Given the description of an element on the screen output the (x, y) to click on. 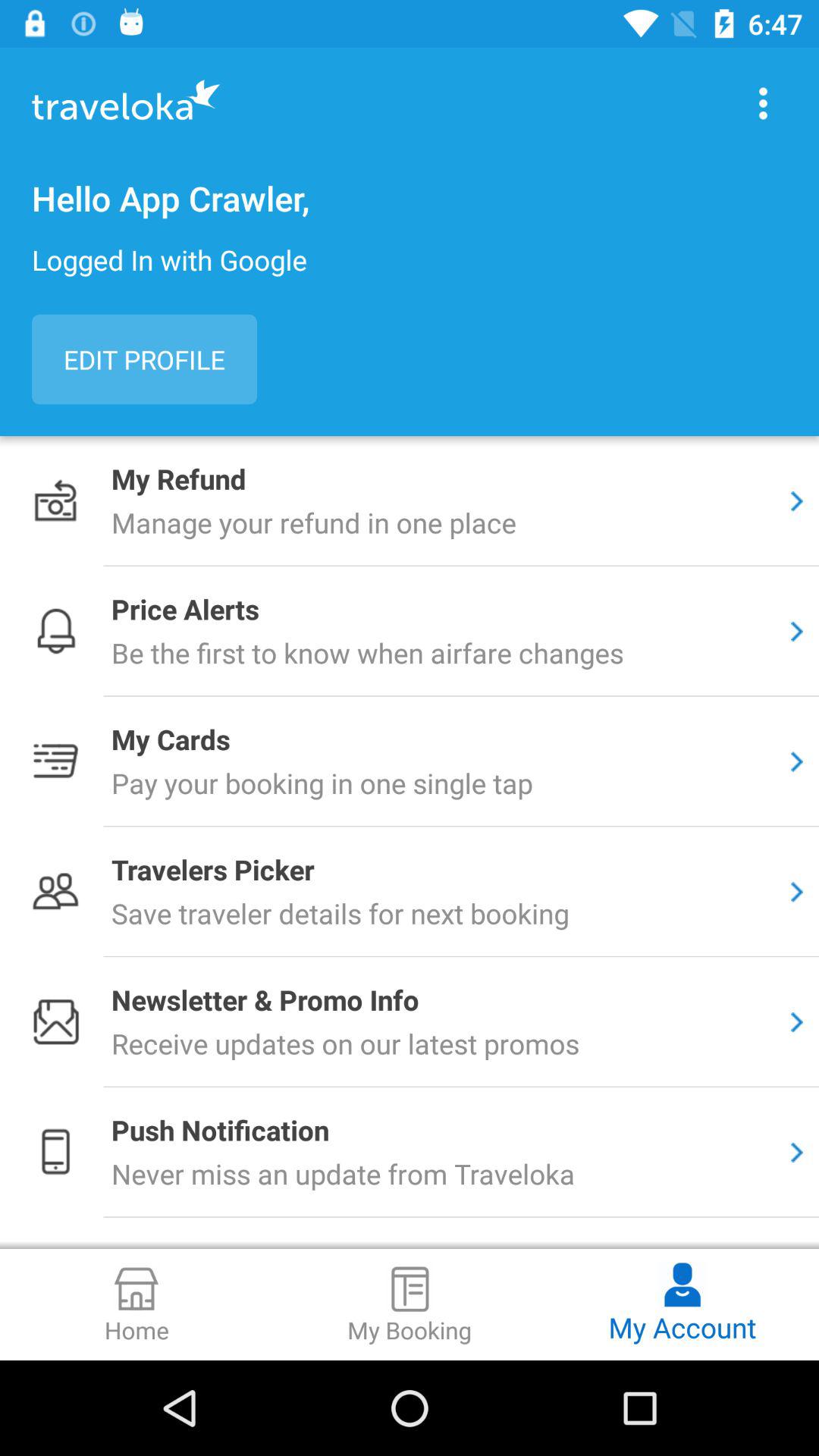
select the icon which is left side of the my cards (55, 760)
